Given the description of an element on the screen output the (x, y) to click on. 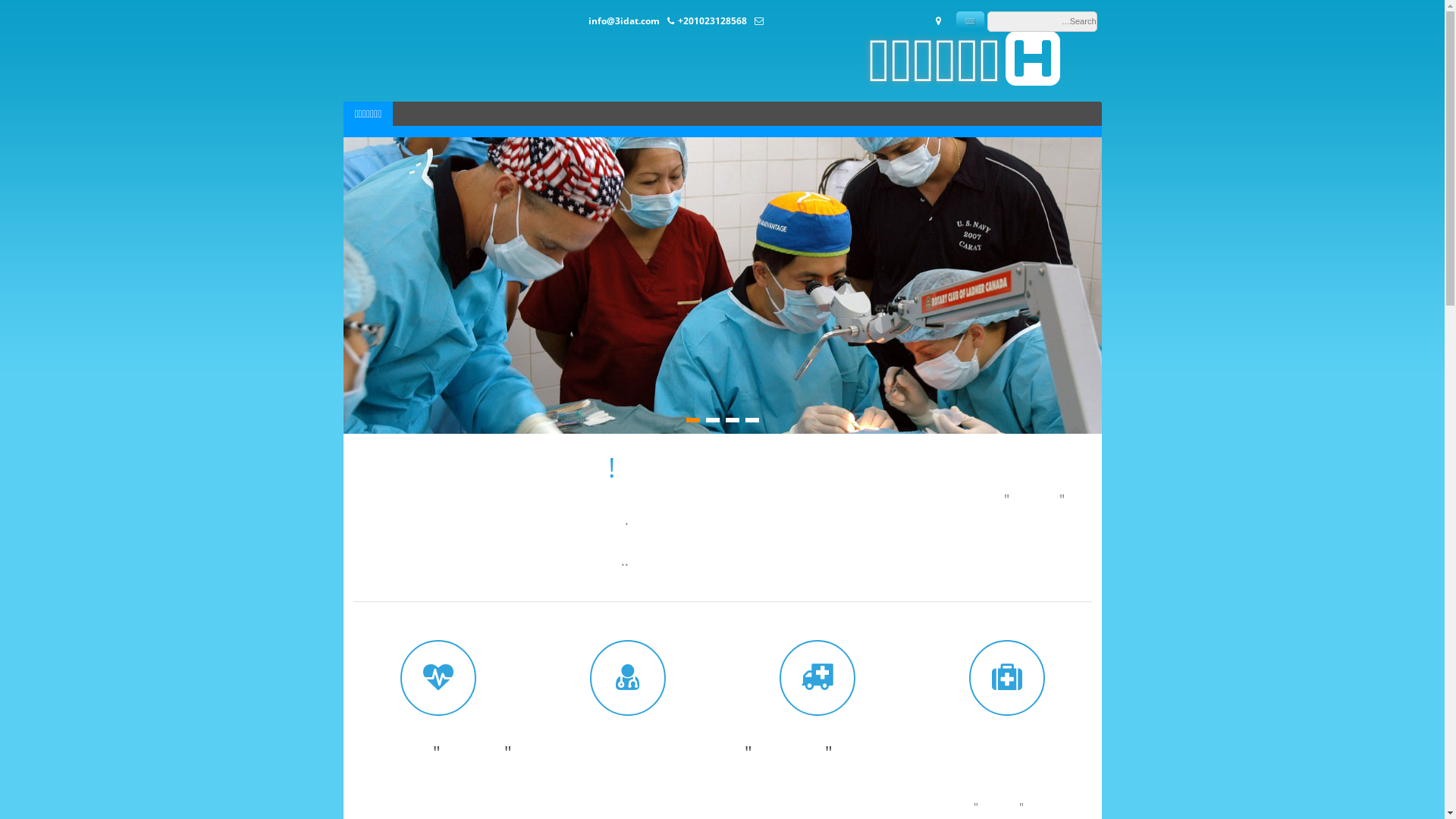
1 Element type: text (751, 419)
2 Element type: text (731, 419)
4 Element type: text (692, 419)
Search for: Element type: hover (1042, 21)
3 Element type: text (711, 419)
